Given the description of an element on the screen output the (x, y) to click on. 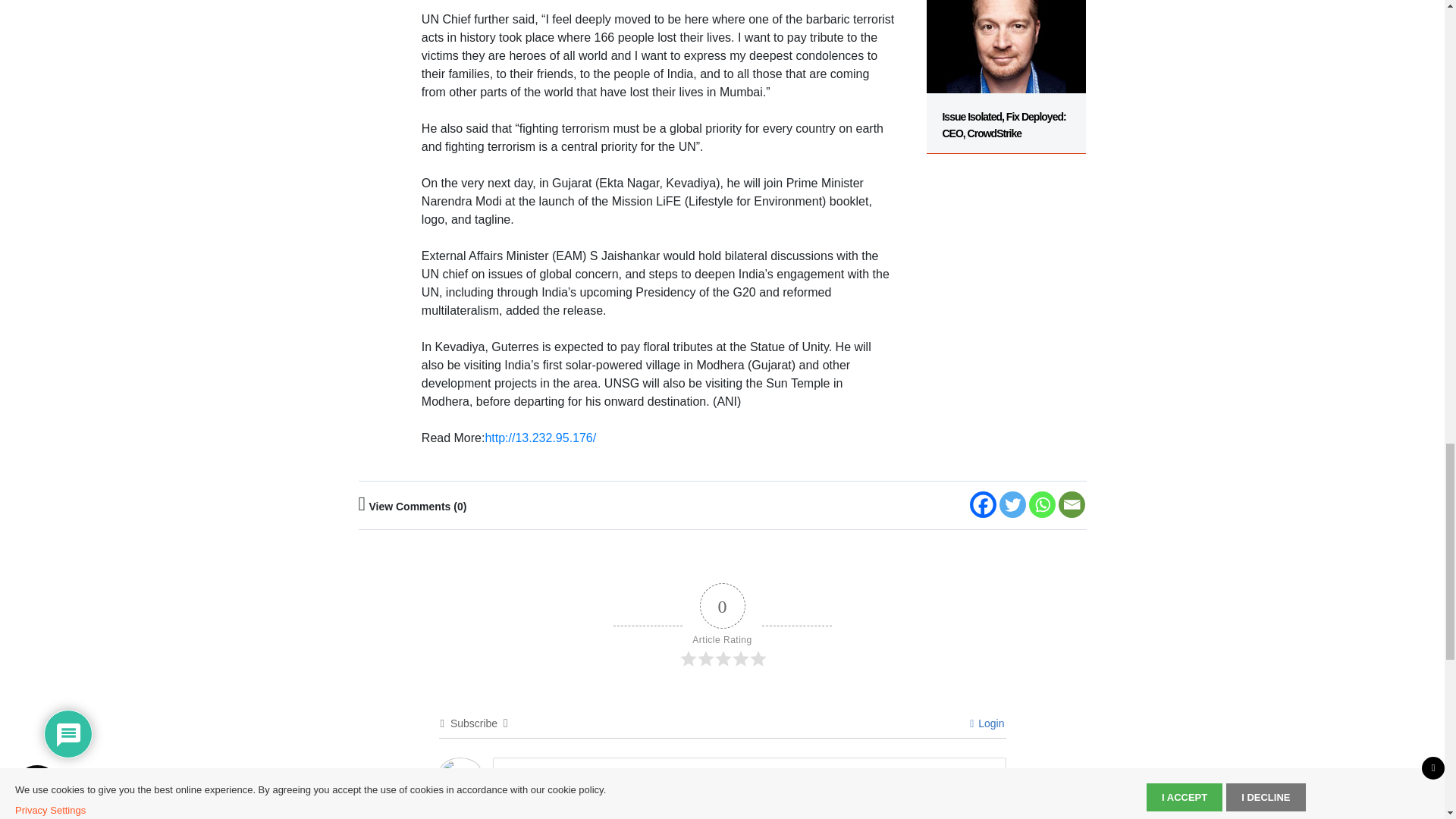
Issue Isolated, Fix Deployed: CEO, CrowdStrike (1006, 76)
Login (986, 723)
